Given the description of an element on the screen output the (x, y) to click on. 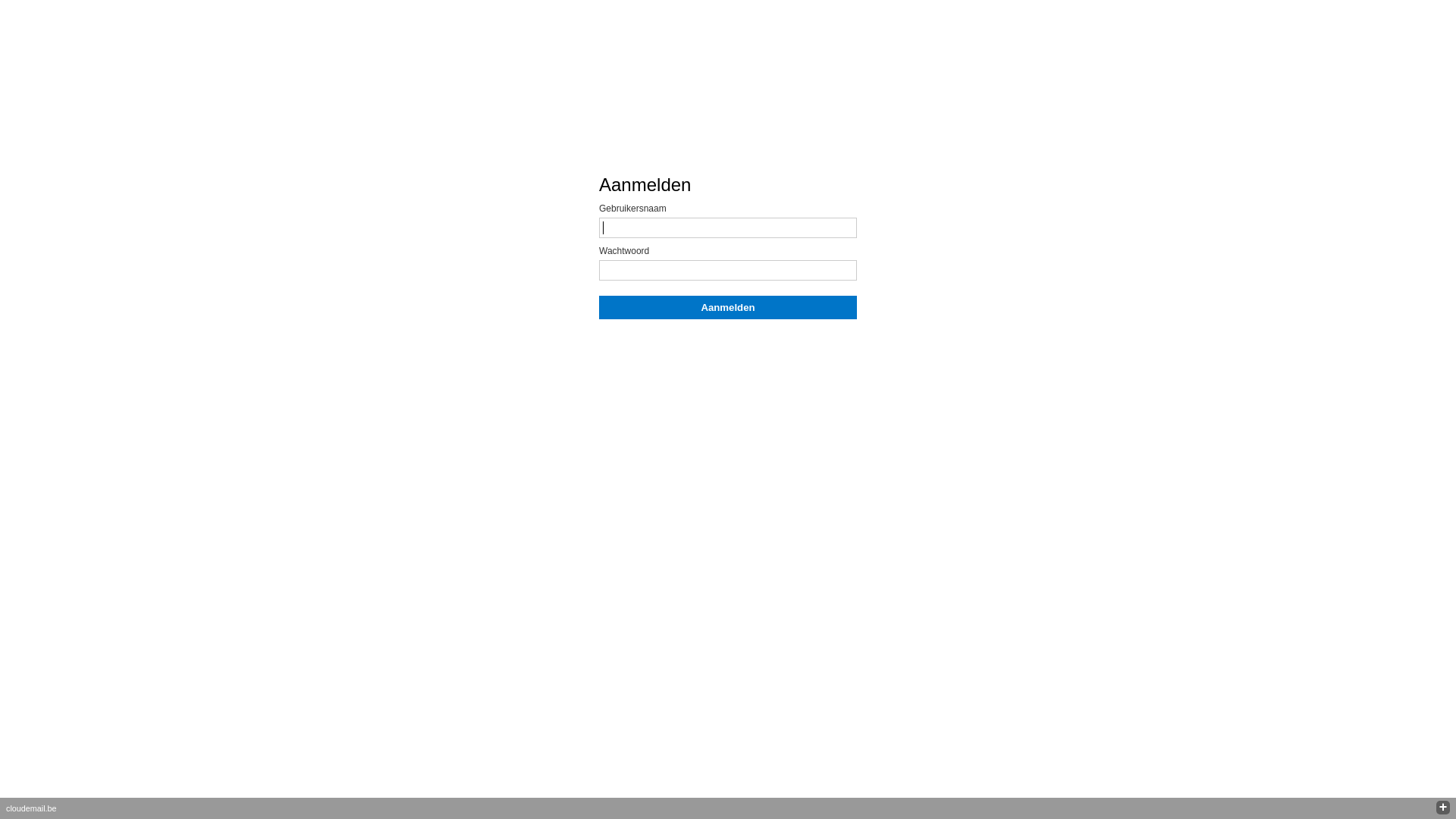
+ Element type: text (1442, 807)
Aanmelden Element type: text (727, 307)
